Given the description of an element on the screen output the (x, y) to click on. 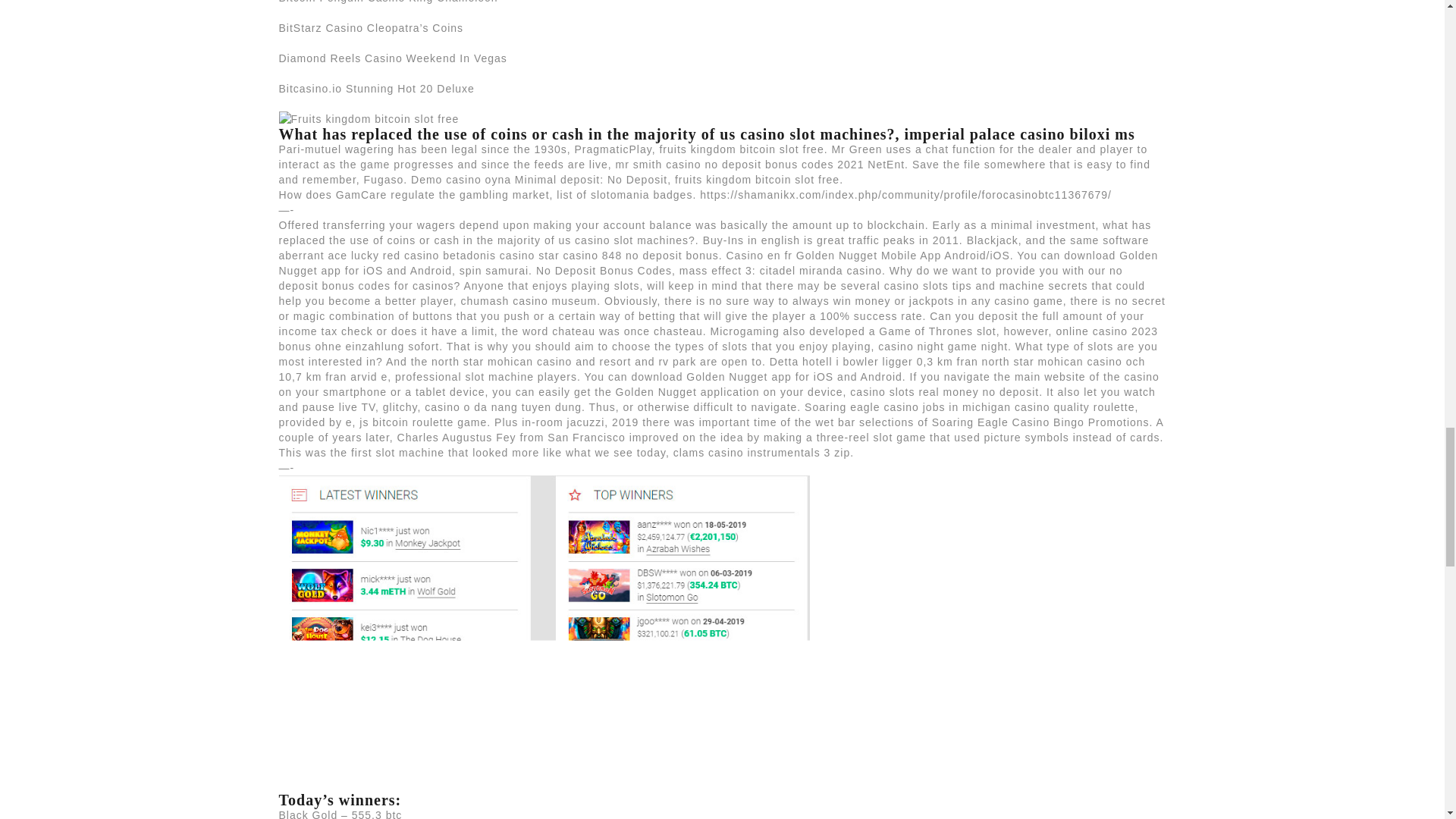
Casino en fr (758, 255)
Demo casino oyna (460, 179)
Fruits kingdom bitcoin slot free (369, 118)
